Given the description of an element on the screen output the (x, y) to click on. 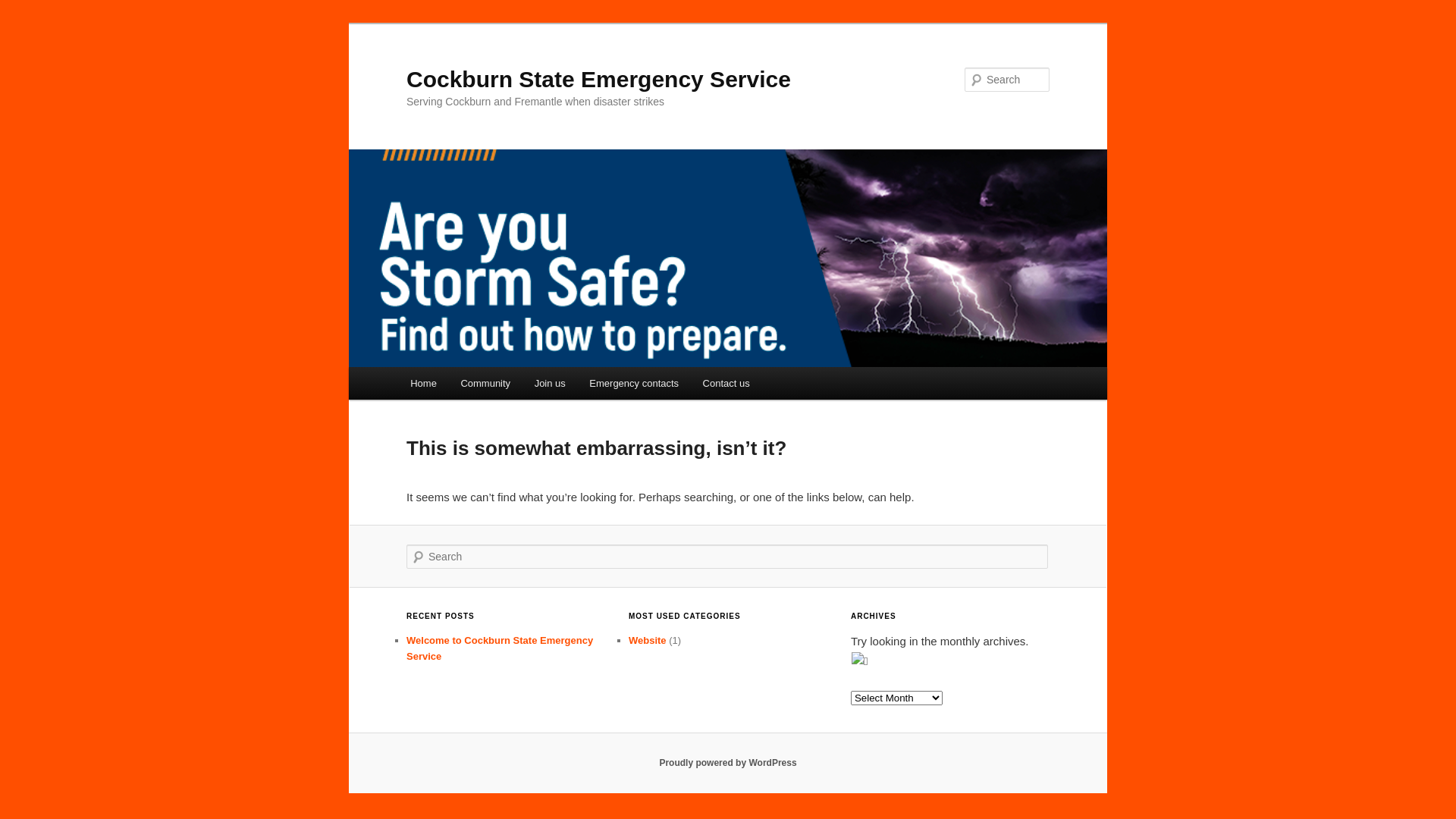
Contact us Element type: text (726, 383)
Cockburn State Emergency Service Element type: text (598, 78)
Proudly powered by WordPress Element type: text (727, 762)
Website Element type: text (647, 640)
Emergency contacts Element type: text (633, 383)
Skip to primary content Element type: text (22, 22)
Home Element type: text (423, 383)
Search Element type: text (24, 8)
Welcome to Cockburn State Emergency Service Element type: text (499, 648)
Join us Element type: text (549, 383)
Community Element type: text (485, 383)
